Given the description of an element on the screen output the (x, y) to click on. 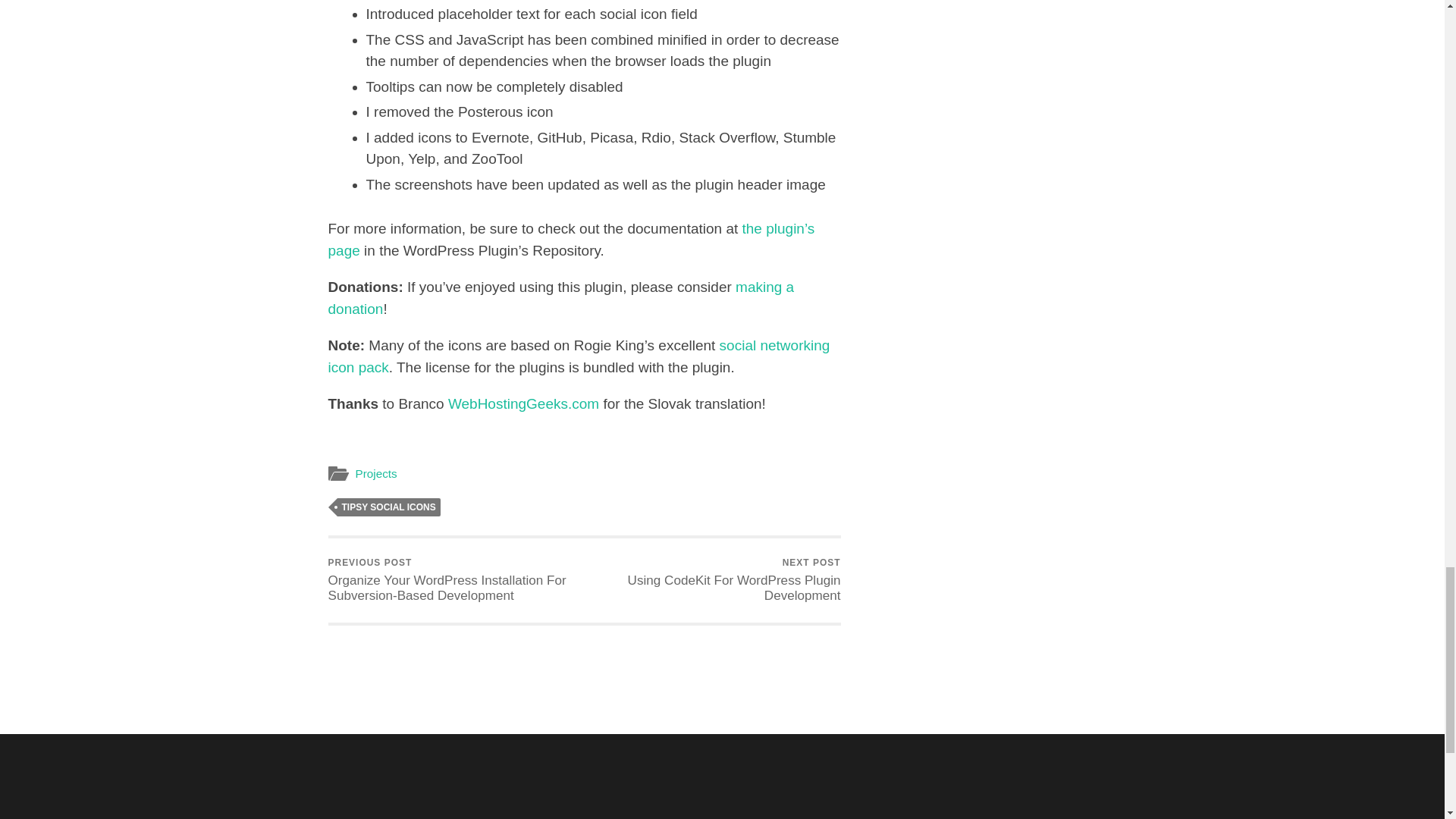
WebHostingGeeks.com (523, 403)
Projects (375, 472)
TIPSY SOCIAL ICONS (387, 506)
social networking icon pack (578, 356)
making a donation (560, 297)
